Given the description of an element on the screen output the (x, y) to click on. 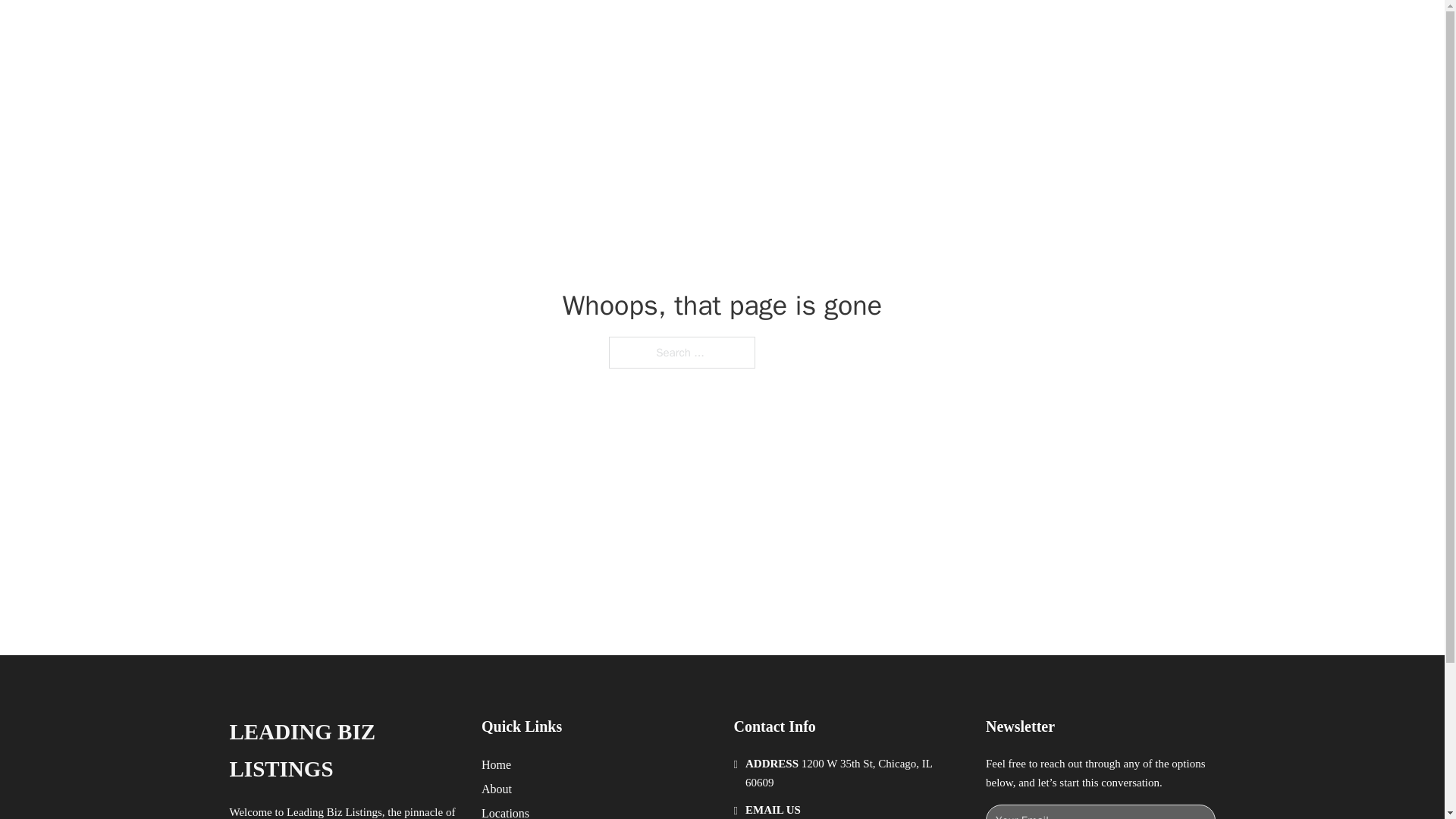
LEADING BIZ LISTINGS (343, 750)
Locations (505, 811)
About (496, 788)
Home (496, 764)
